Given the description of an element on the screen output the (x, y) to click on. 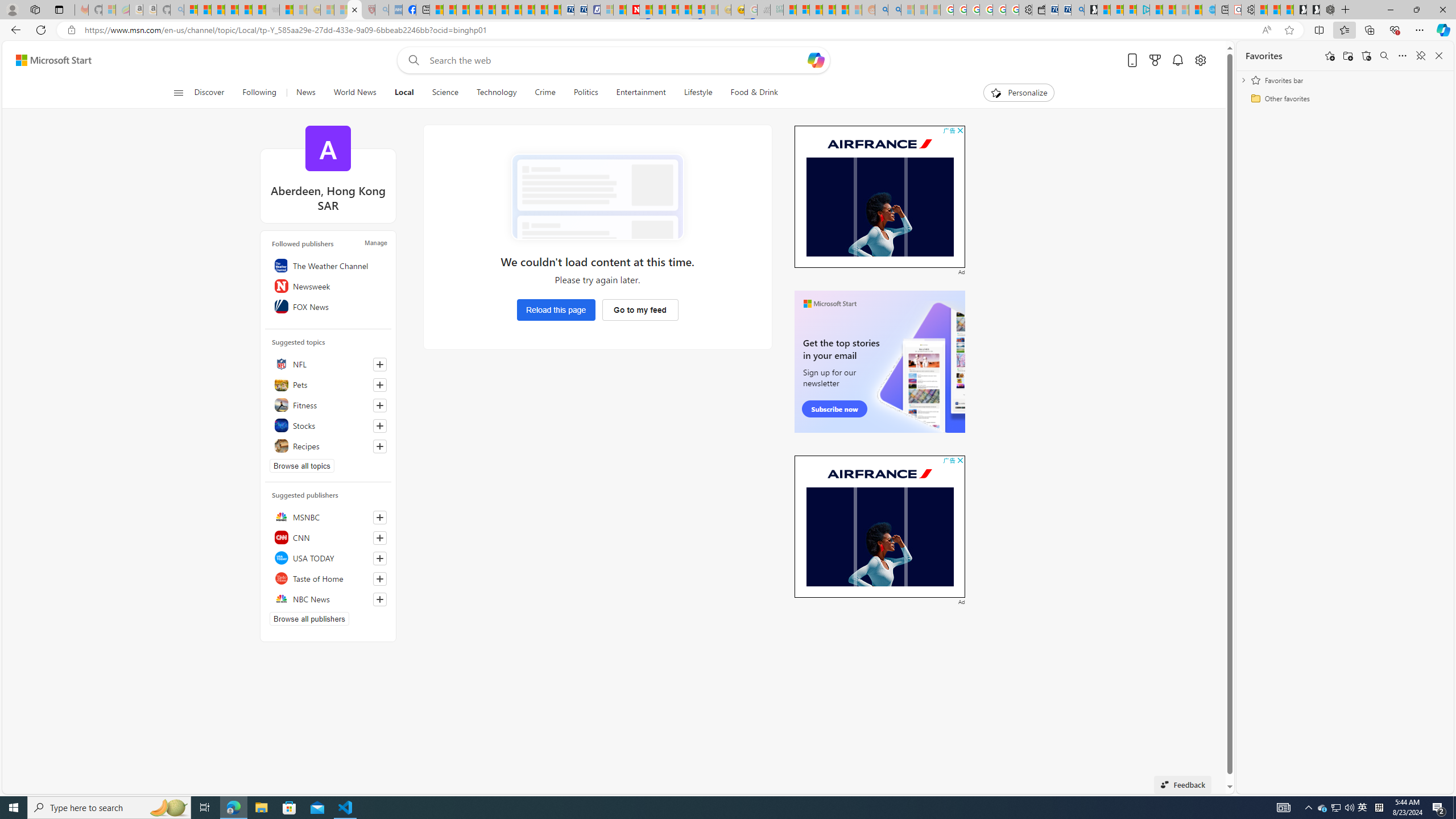
Food & Drink (753, 92)
FOX News (327, 306)
The Weather Channel - MSN (218, 9)
NBC News (327, 598)
Local - MSN (354, 9)
Wallet (1037, 9)
Newsweek (327, 285)
World - MSN (462, 9)
